Given the description of an element on the screen output the (x, y) to click on. 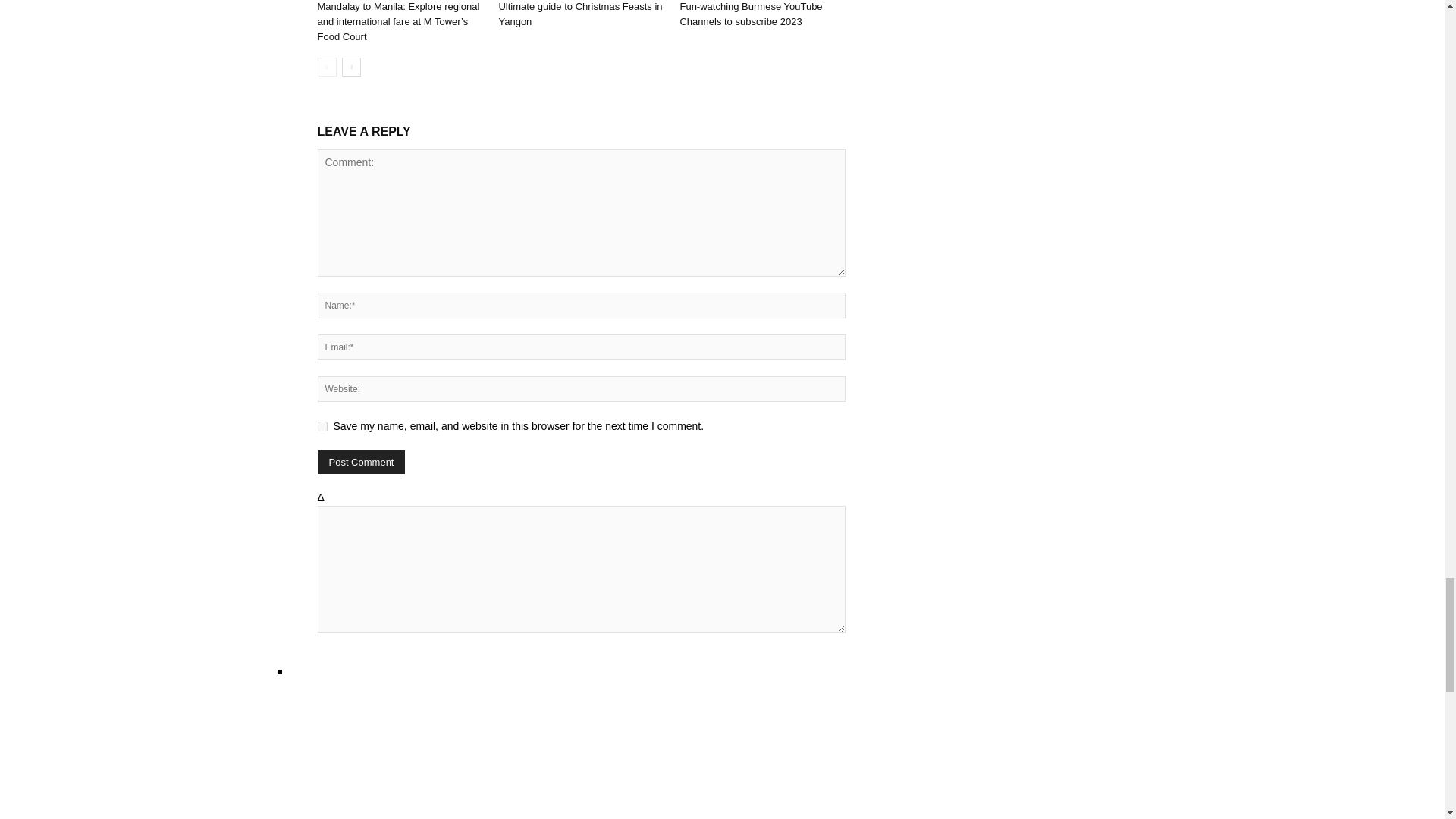
Post Comment (360, 462)
yes (321, 426)
